Given the description of an element on the screen output the (x, y) to click on. 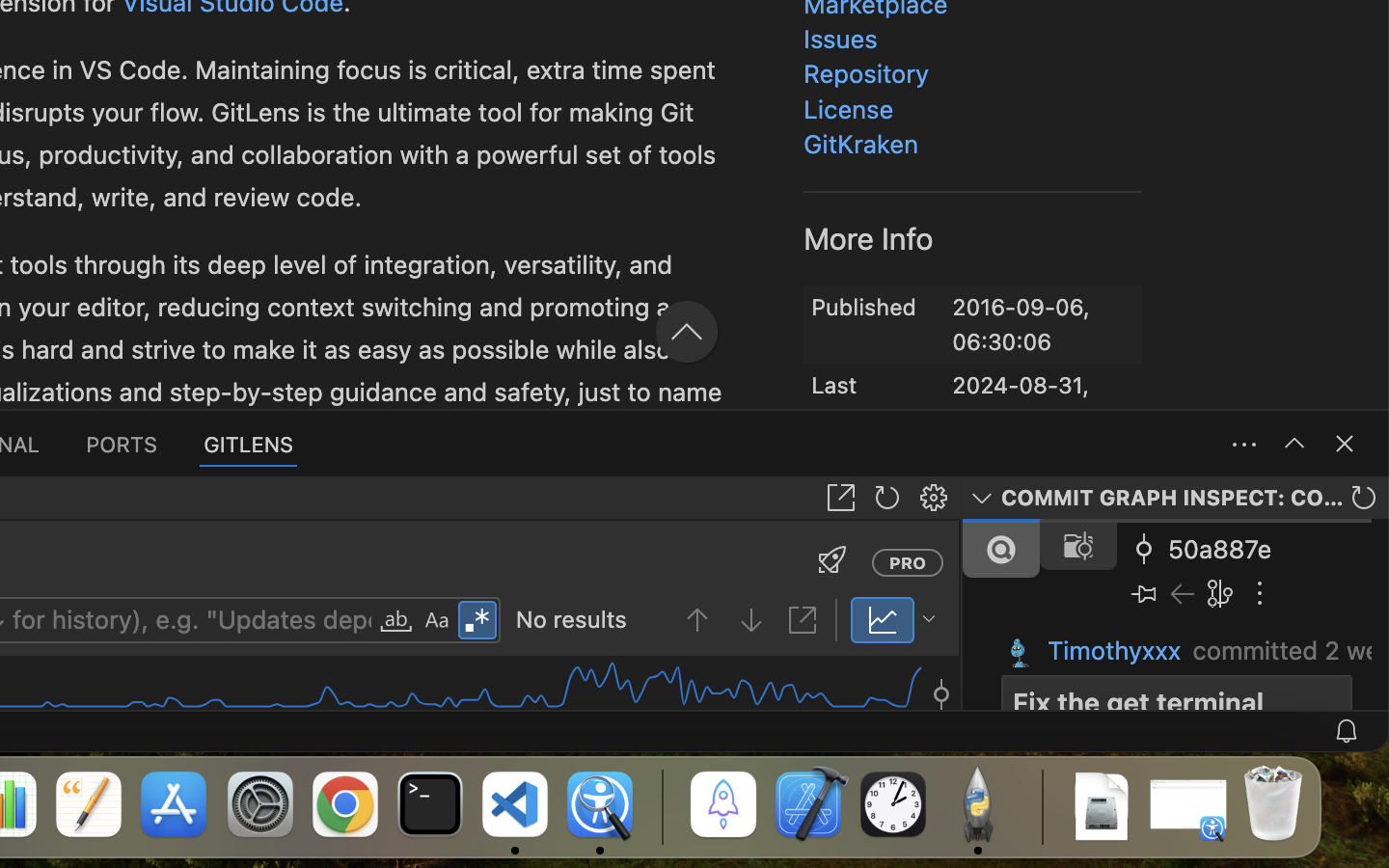
 Element type: AXButton (887, 497)
 Element type: AXStaticText (717, 374)
Repository Element type: AXStaticText (866, 73)
 Element type: AXStaticText (1060, 161)
 Element type: AXStaticText (553, 223)
